Given the description of an element on the screen output the (x, y) to click on. 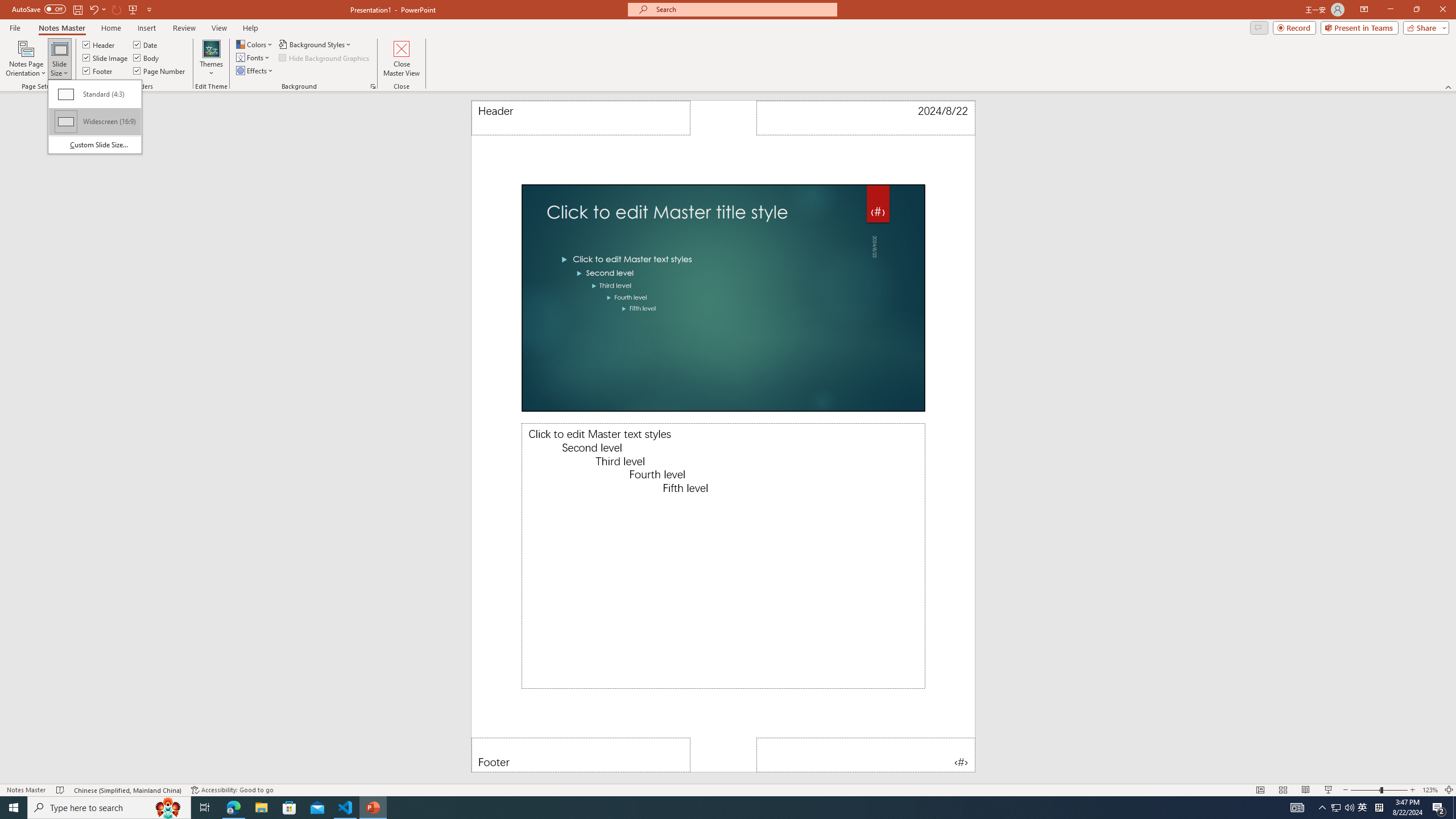
Page Number (866, 754)
Slide Size (59, 58)
